Given the description of an element on the screen output the (x, y) to click on. 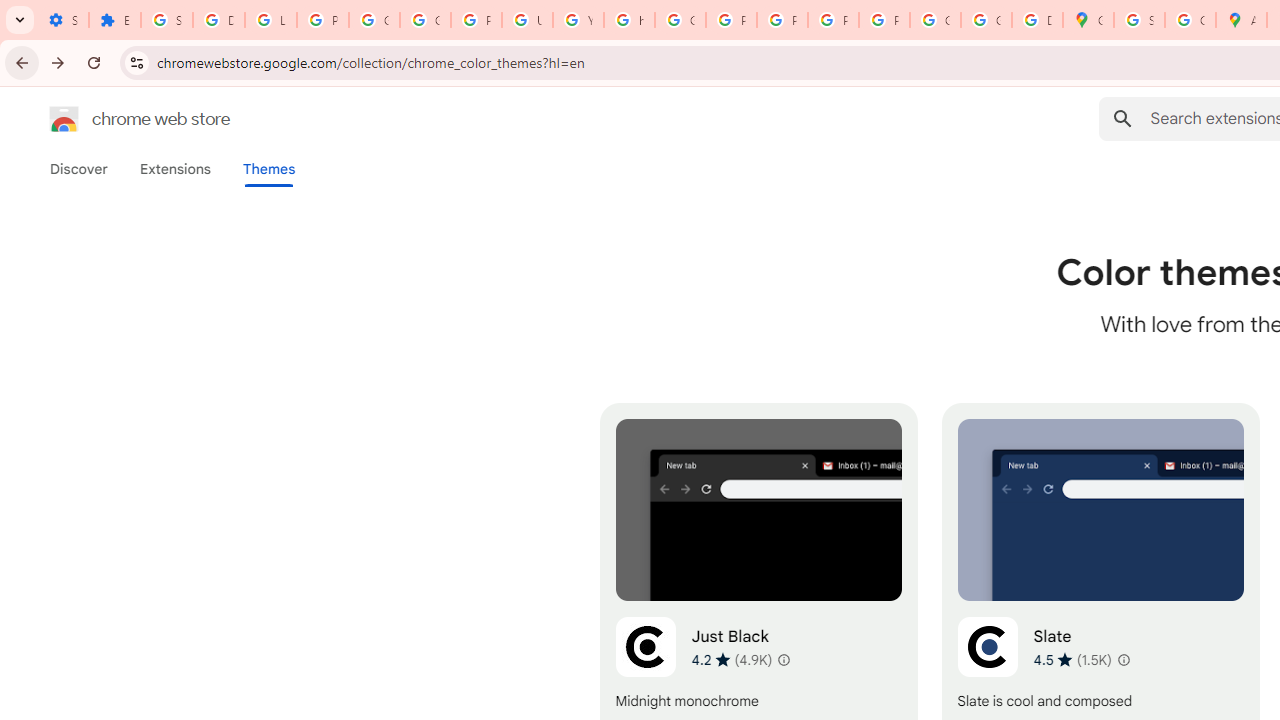
Discover (79, 169)
Chrome Web Store logo (63, 118)
Google Account Help (374, 20)
Average rating 4.5 out of 5 stars. 1.5K ratings. (1072, 659)
Google Maps (1087, 20)
YouTube (578, 20)
Settings - On startup (63, 20)
Themes (269, 169)
